Given the description of an element on the screen output the (x, y) to click on. 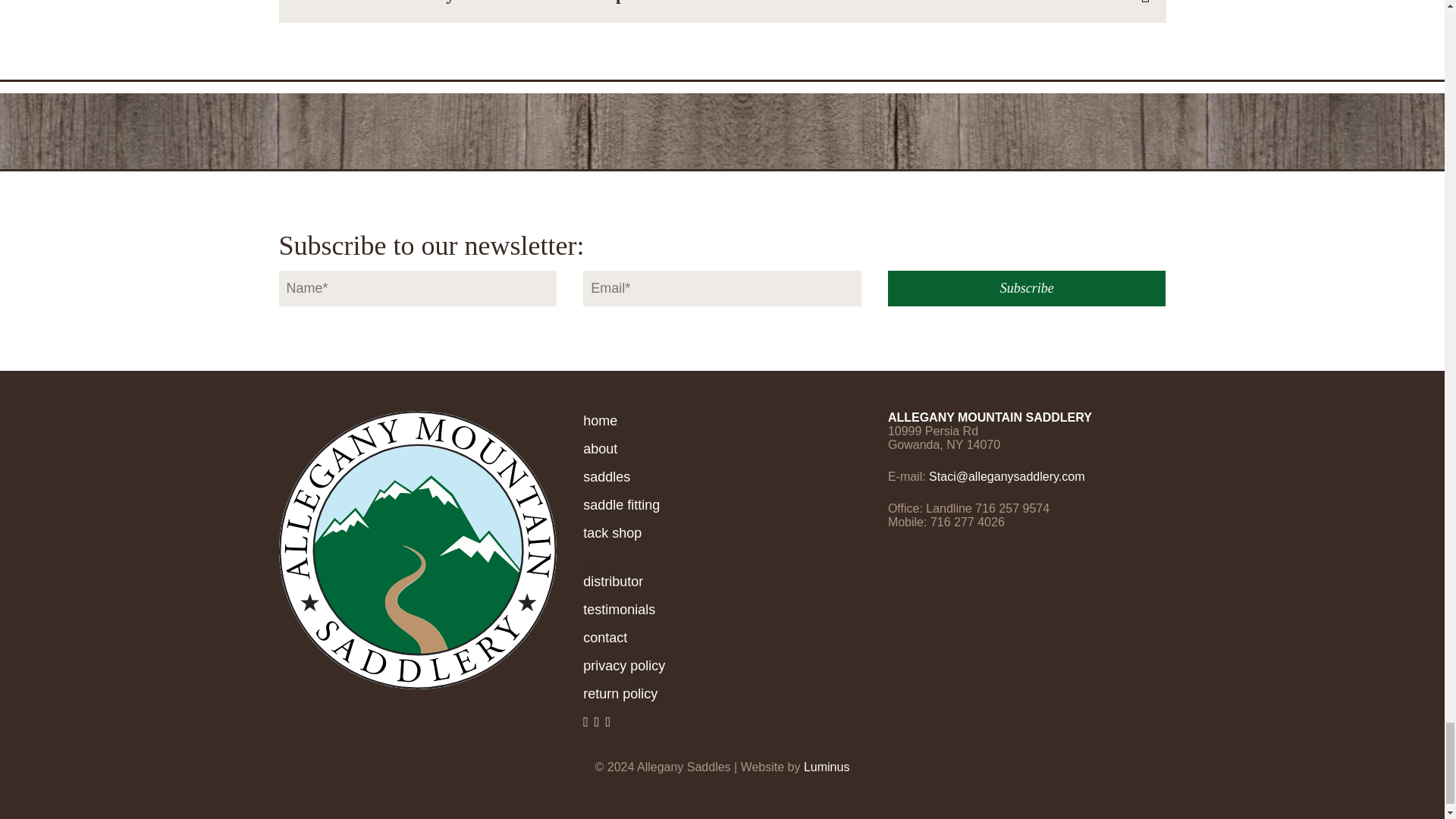
Subscribe (1027, 288)
